Given the description of an element on the screen output the (x, y) to click on. 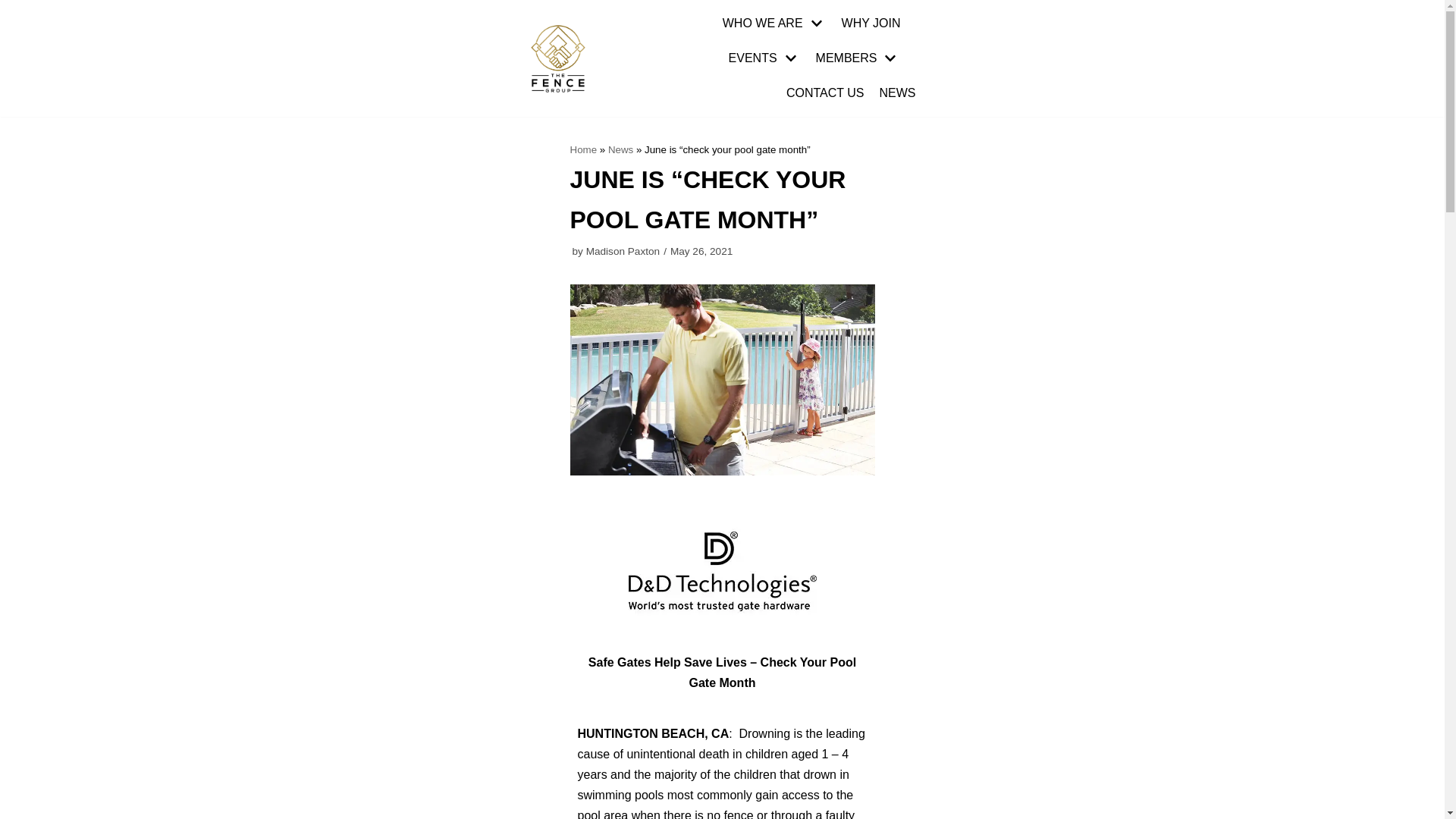
WHY JOIN (871, 23)
Madison Paxton (622, 251)
NEWS (897, 93)
Skip to content (15, 7)
WHO WE ARE (774, 23)
News (620, 149)
MEMBERS (858, 57)
EVENTS (764, 57)
Home (583, 149)
CONTACT US (825, 93)
